Given the description of an element on the screen output the (x, y) to click on. 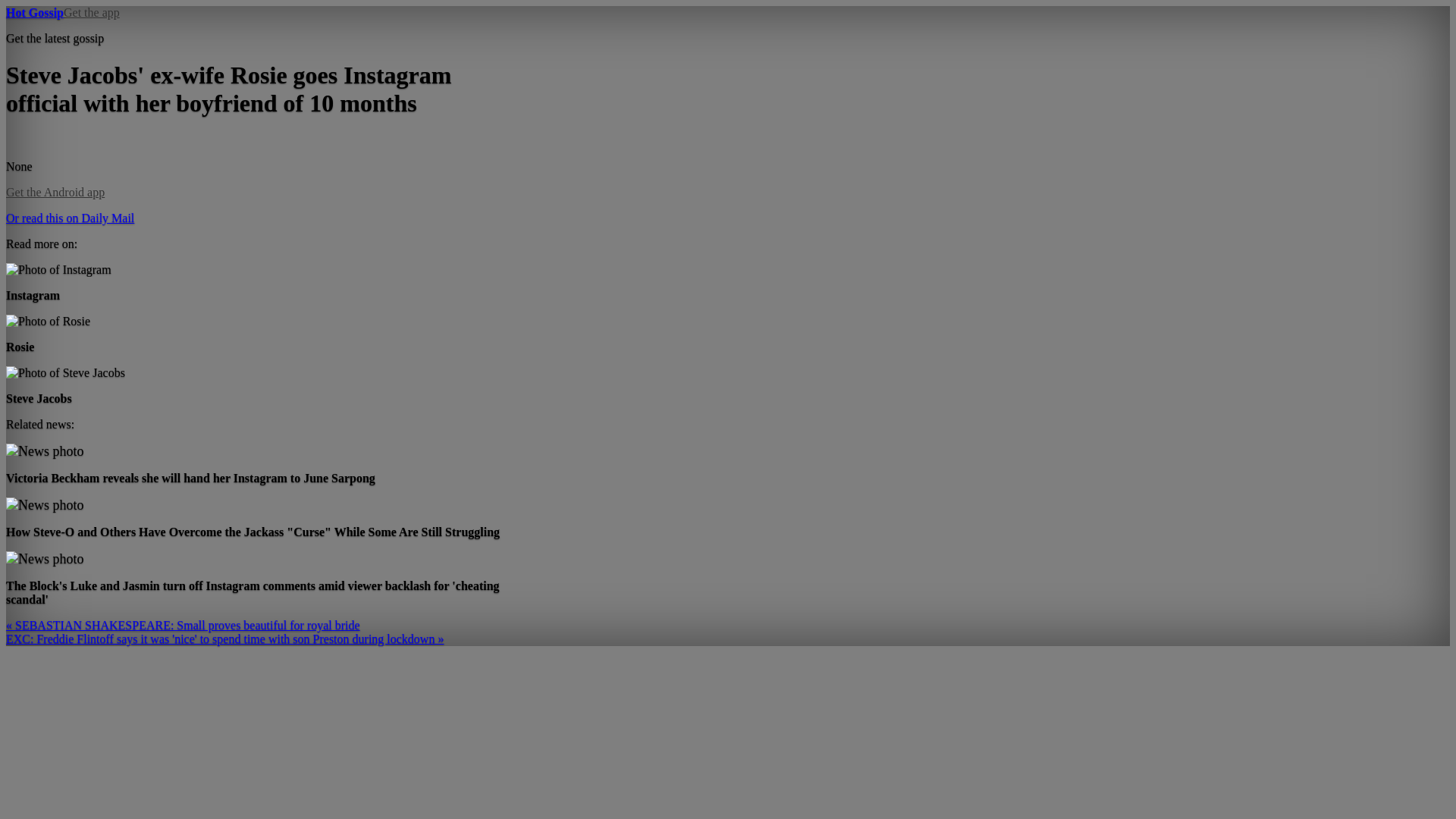
Get the app (91, 11)
Get the Android app (54, 192)
Or read this on Daily Mail (69, 217)
Hot Gossip (34, 11)
